Given the description of an element on the screen output the (x, y) to click on. 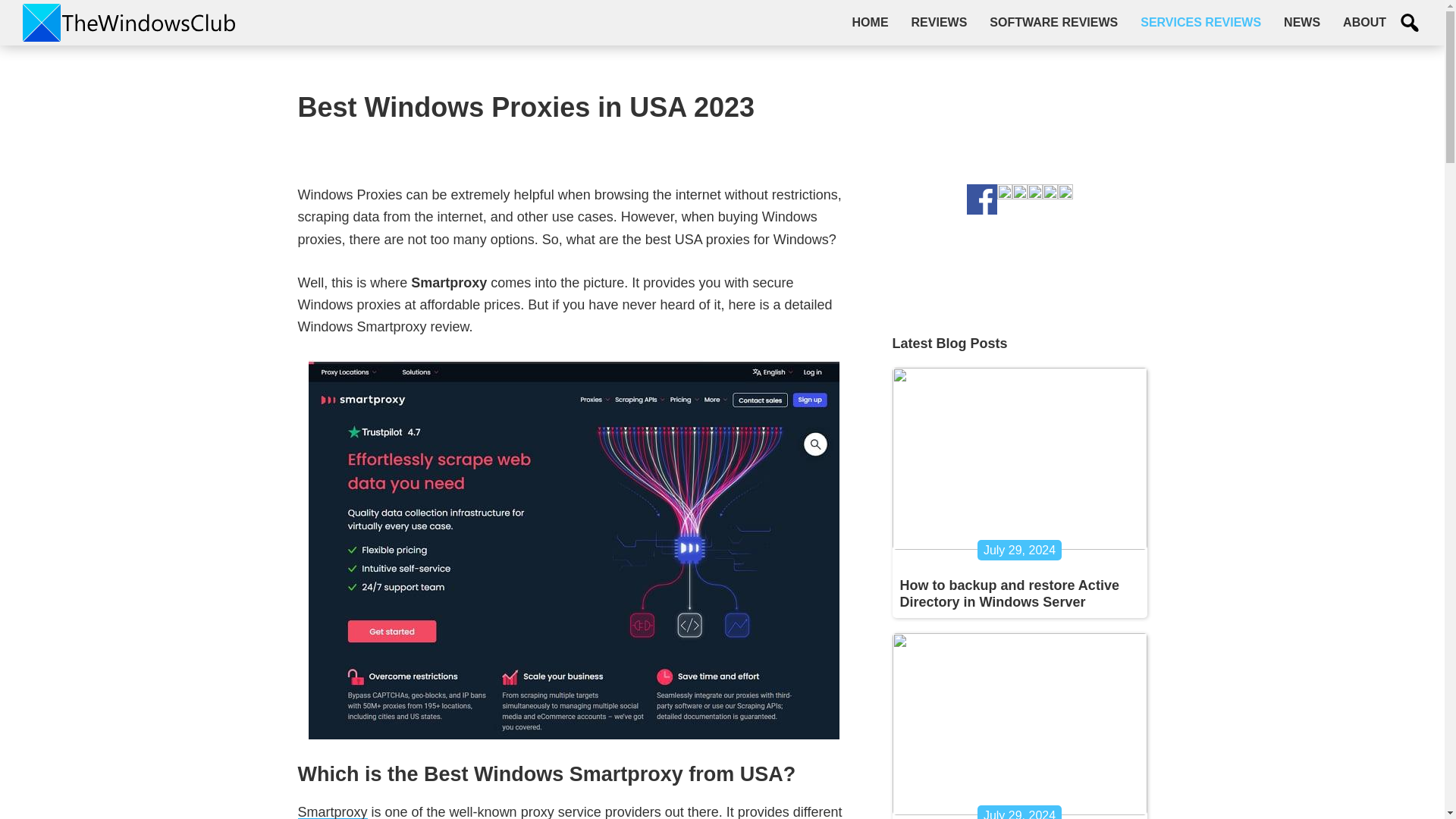
ABOUT (1364, 22)
How to backup and restore Active Directory in Windows Server (1008, 593)
HOME (870, 22)
SERVICES REVIEWS (1200, 22)
Smartproxy (331, 811)
NEWS (1302, 22)
REVIEWS (938, 22)
SOFTWARE REVIEWS (1053, 22)
Show Search (1409, 22)
